Given the description of an element on the screen output the (x, y) to click on. 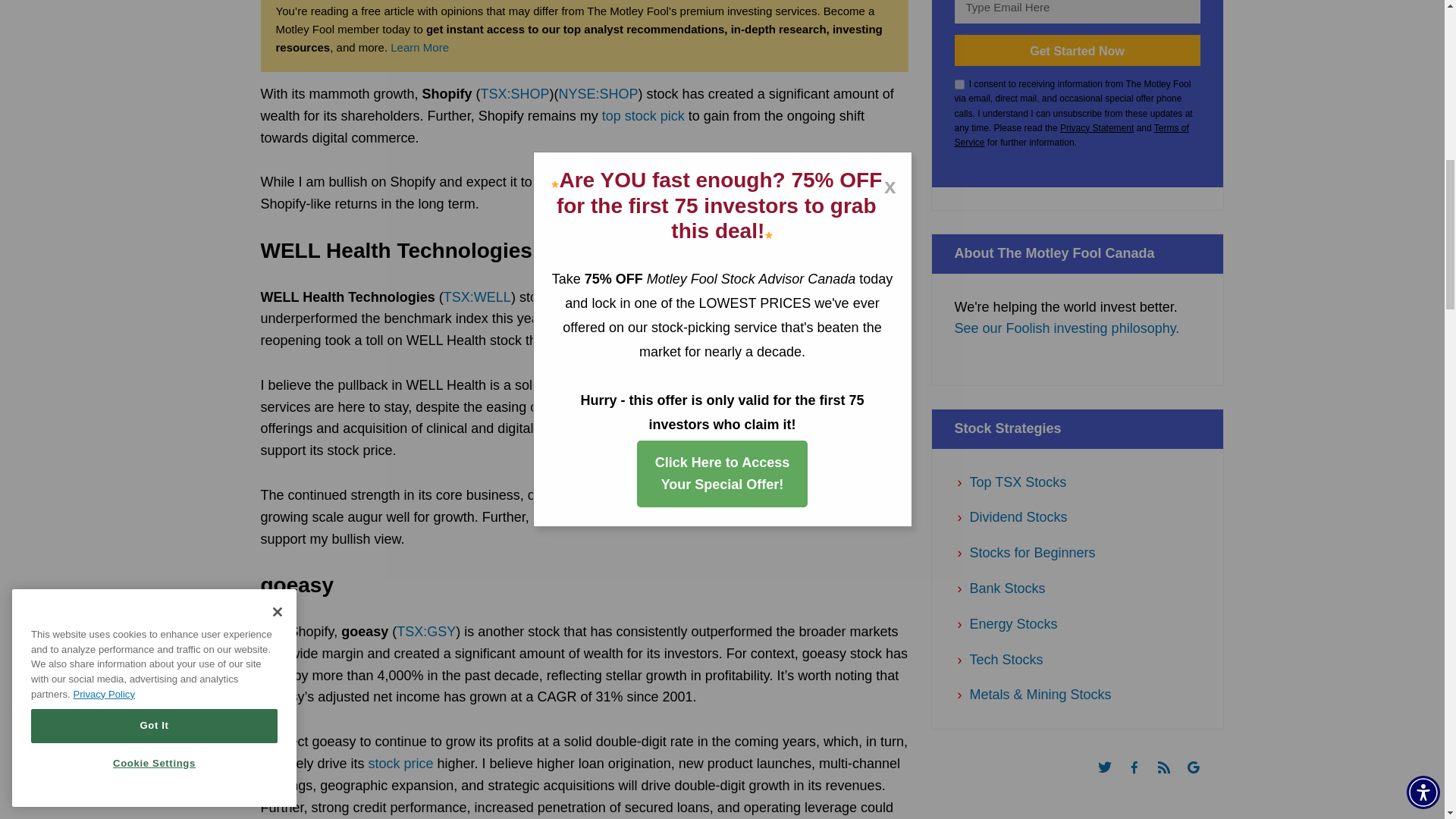
on (958, 84)
